Given the description of an element on the screen output the (x, y) to click on. 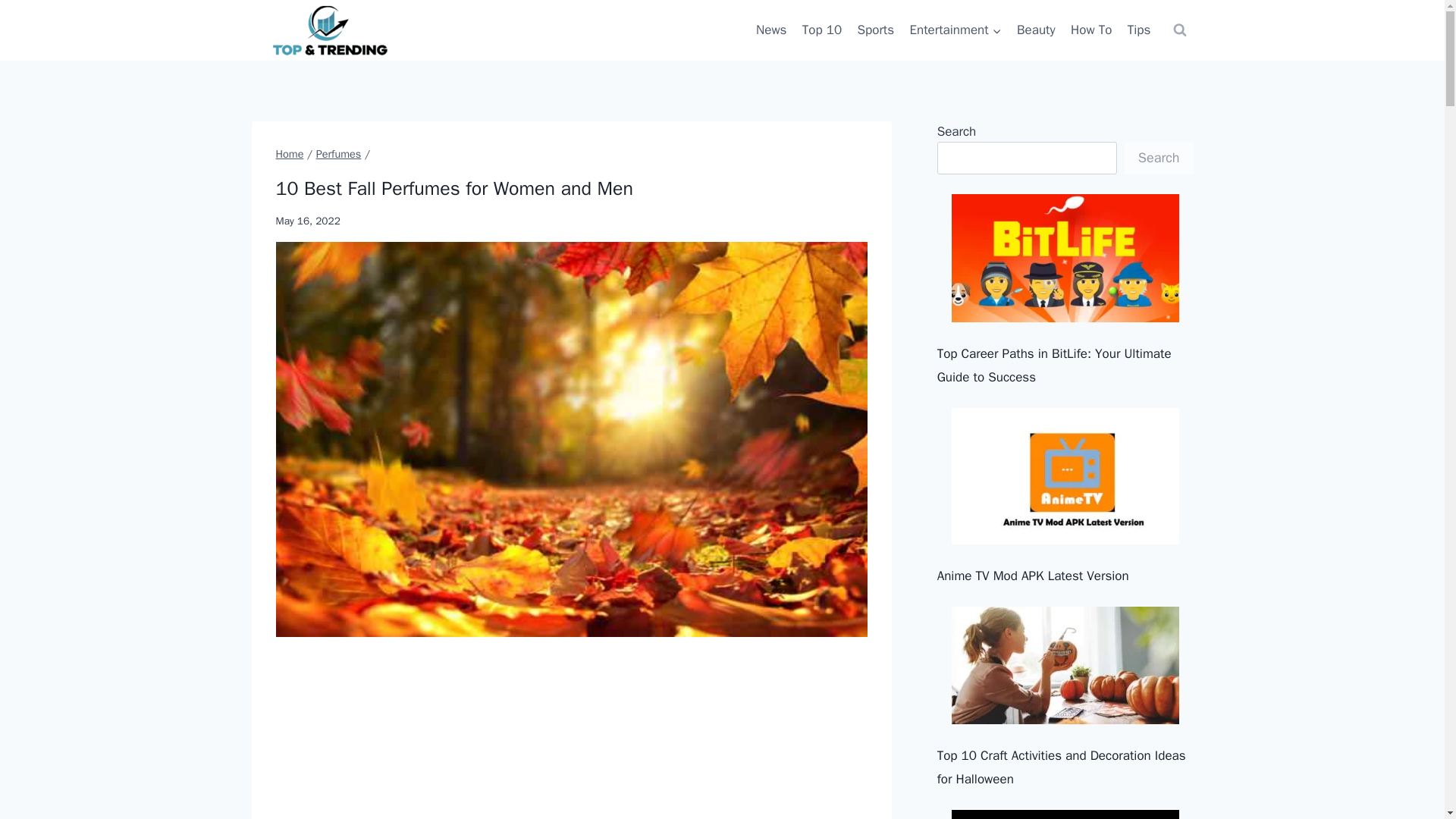
Sports (874, 30)
Entertainment (955, 30)
Beauty (1035, 30)
Tips (1138, 30)
Top 10 (822, 30)
How To (1090, 30)
Perfumes (338, 153)
Home (290, 153)
News (771, 30)
